Given the description of an element on the screen output the (x, y) to click on. 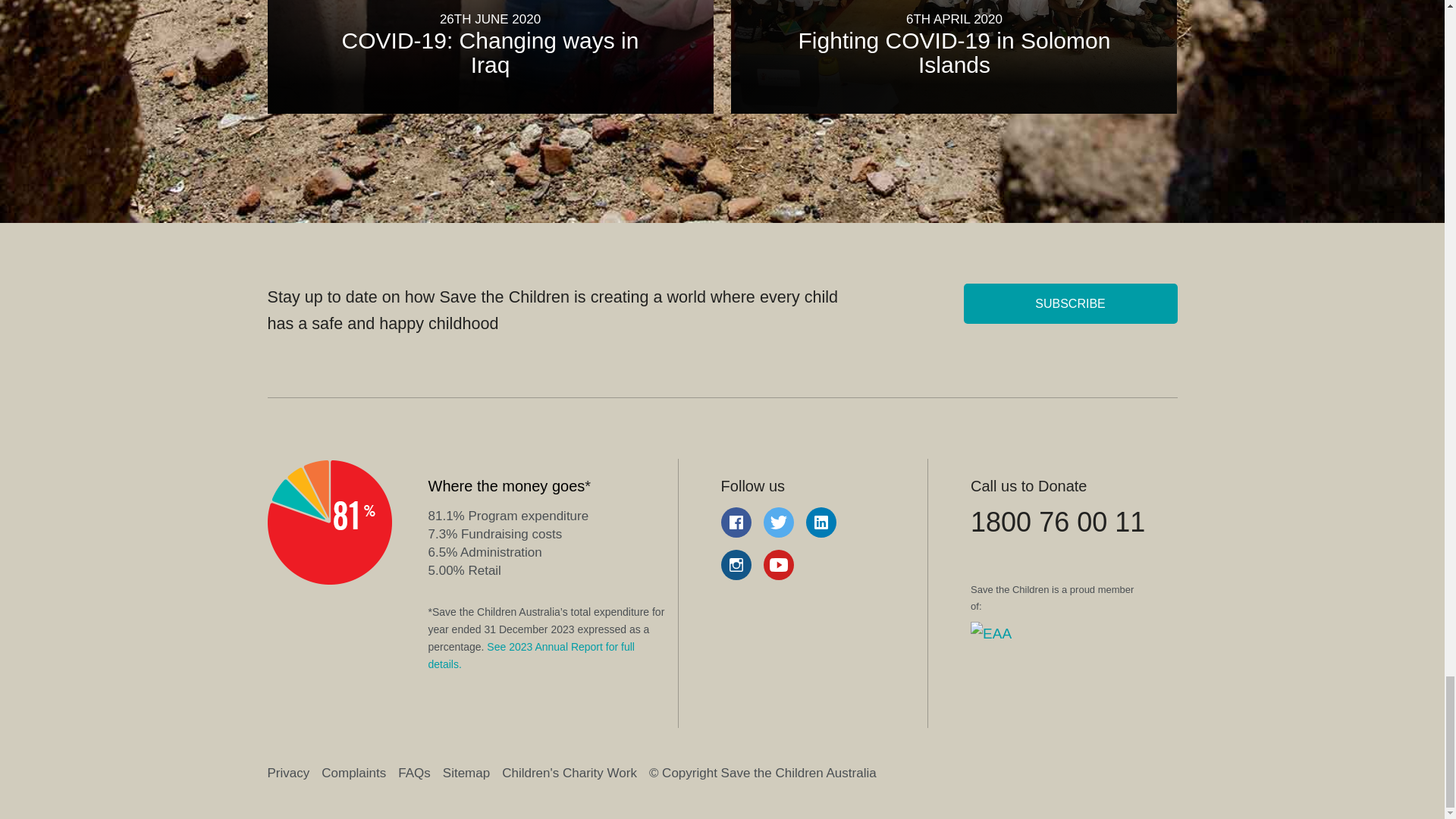
Instagram (735, 564)
Twitter (777, 521)
Linkedin (820, 521)
Facebook (735, 521)
Youtube (777, 564)
